Given the description of an element on the screen output the (x, y) to click on. 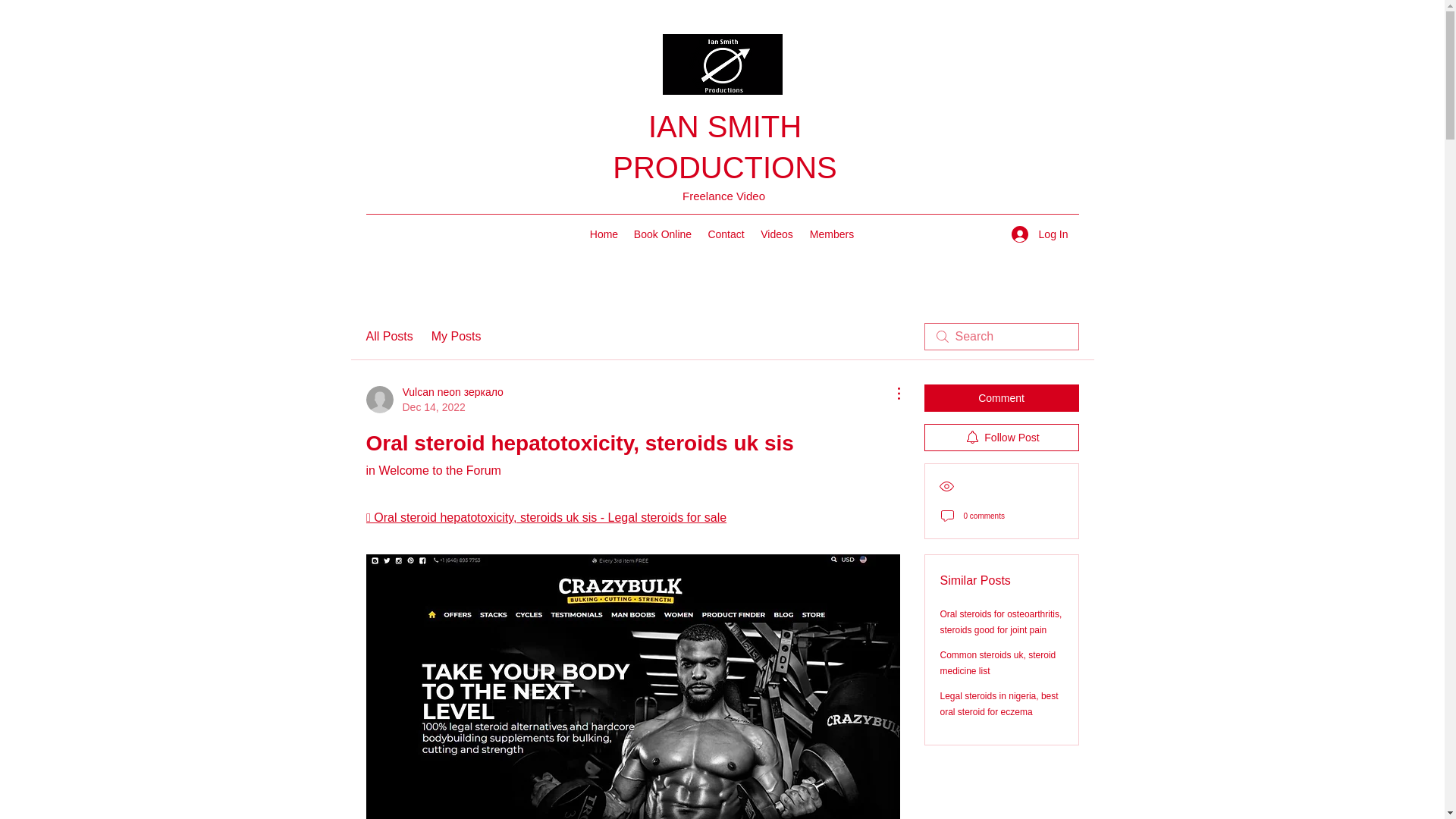
Follow Post (1000, 437)
Log In (1039, 234)
Videos (776, 233)
Comment (1000, 397)
My Posts (455, 336)
All Posts (388, 336)
Contact (725, 233)
Members (830, 233)
Common steroids uk, steroid medicine list (998, 663)
